Given the description of an element on the screen output the (x, y) to click on. 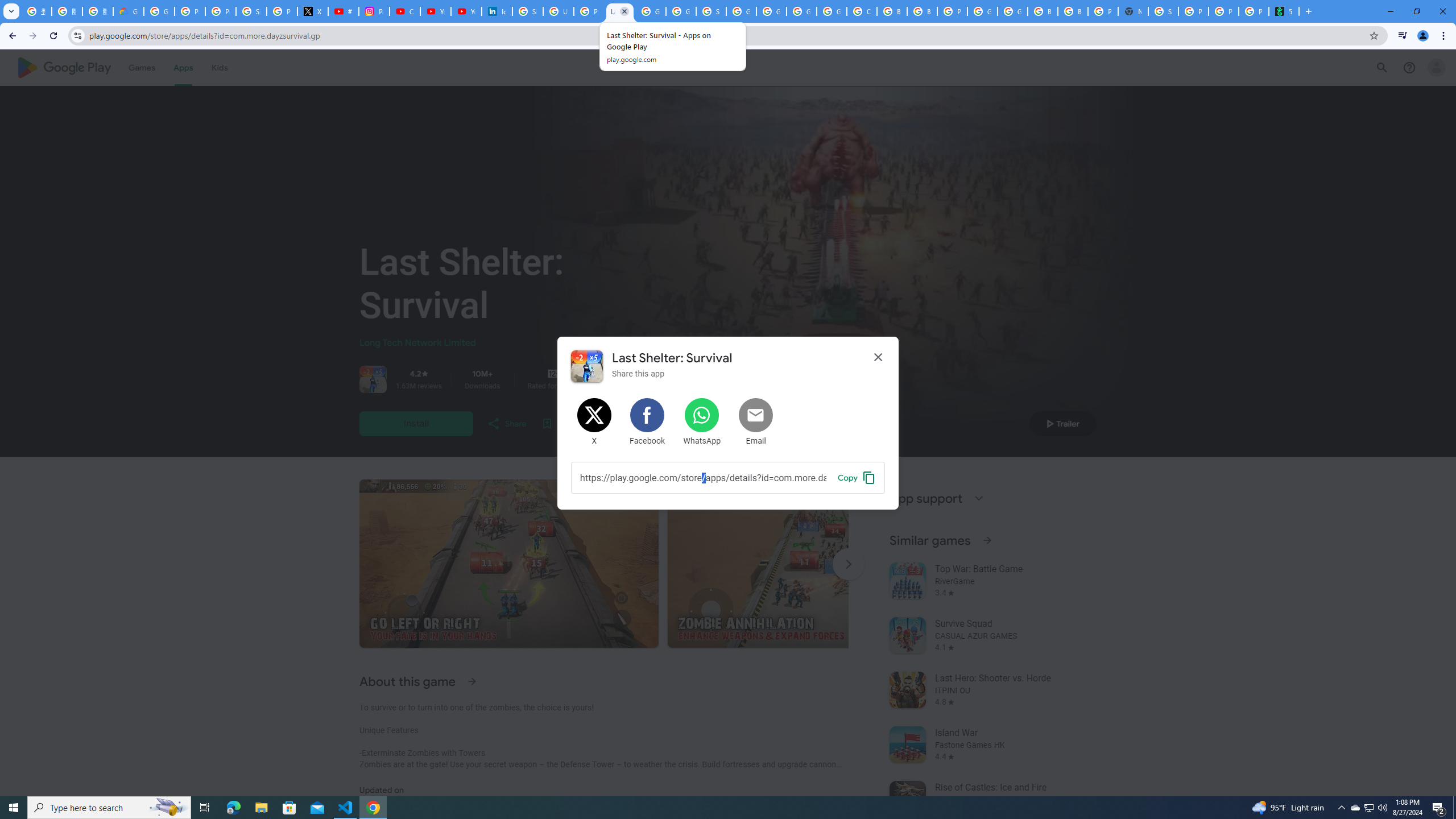
Sign in - Google Accounts (527, 11)
Share on WhatsApp (701, 421)
Share by Email (755, 421)
Google Cloud Privacy Notice (127, 11)
